Given the description of an element on the screen output the (x, y) to click on. 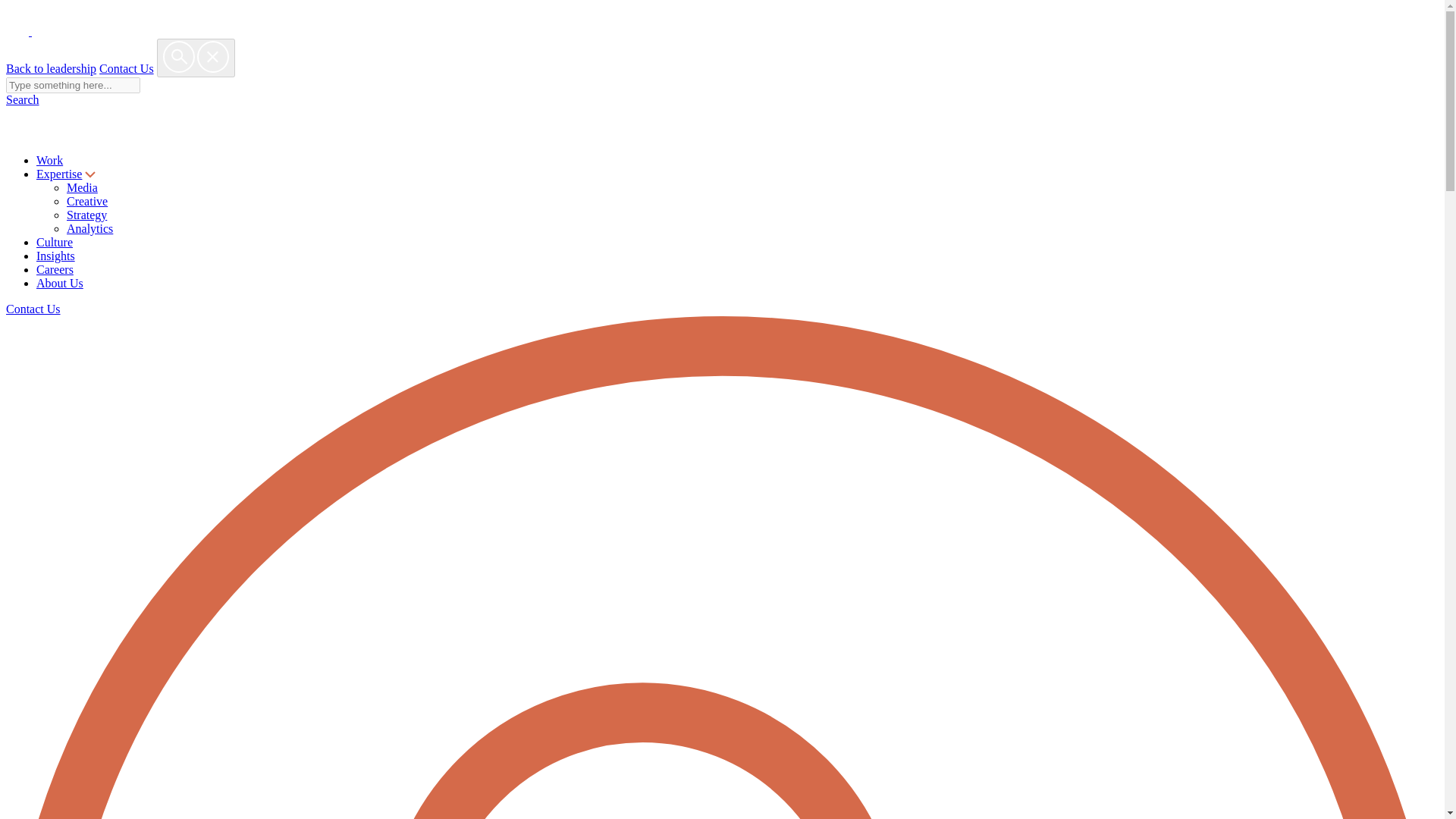
Analytics (89, 228)
Search (22, 99)
Contact Us (126, 68)
Insights (55, 255)
Expertise (58, 173)
Careers (55, 269)
Search (72, 84)
Strategy (86, 214)
Contact Us (33, 308)
Work (49, 160)
